Given the description of an element on the screen output the (x, y) to click on. 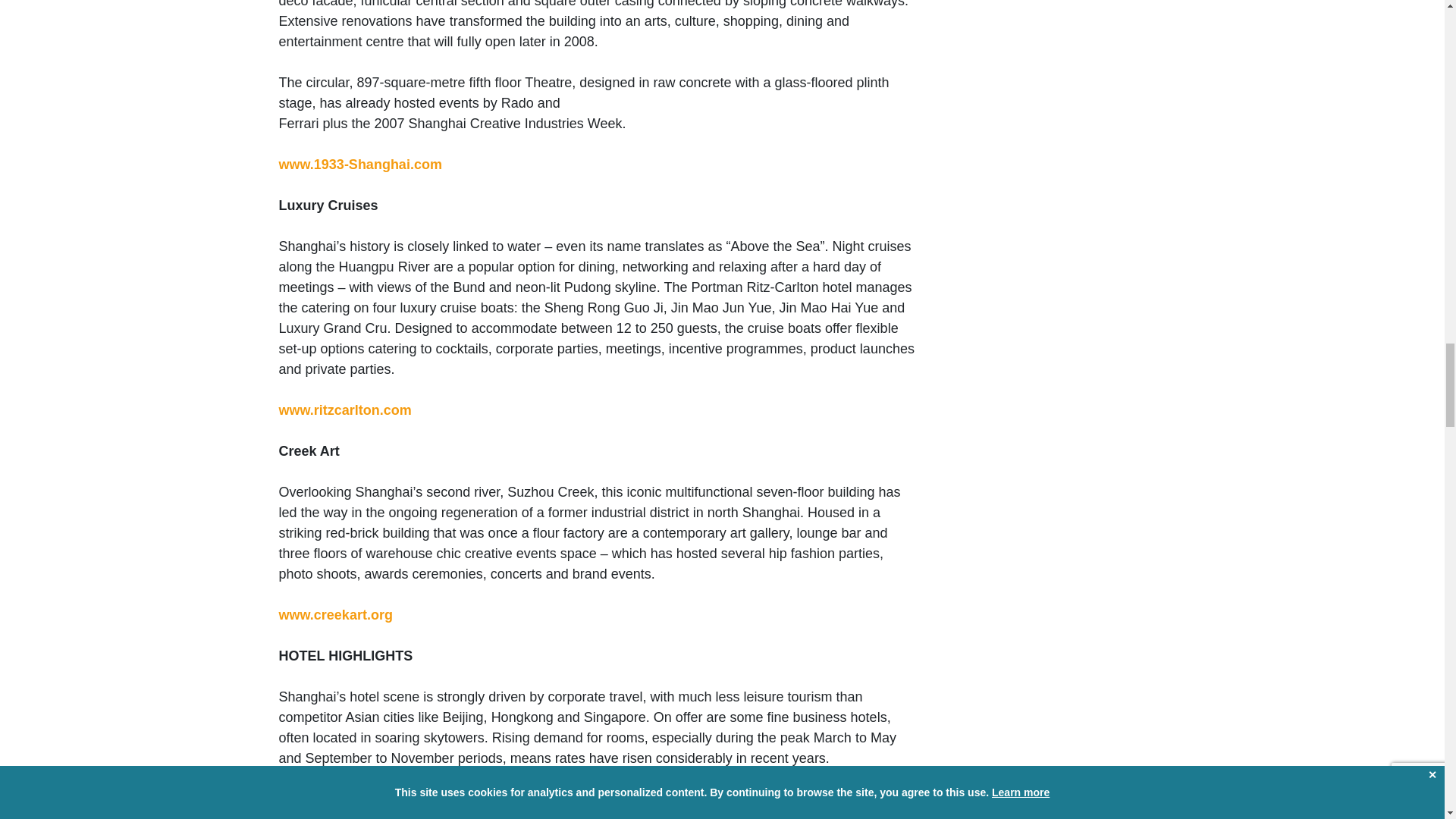
www.creekart.org (336, 614)
www.1933-Shanghai.com (360, 164)
www.ritzcarlton.com (345, 409)
